Given the description of an element on the screen output the (x, y) to click on. 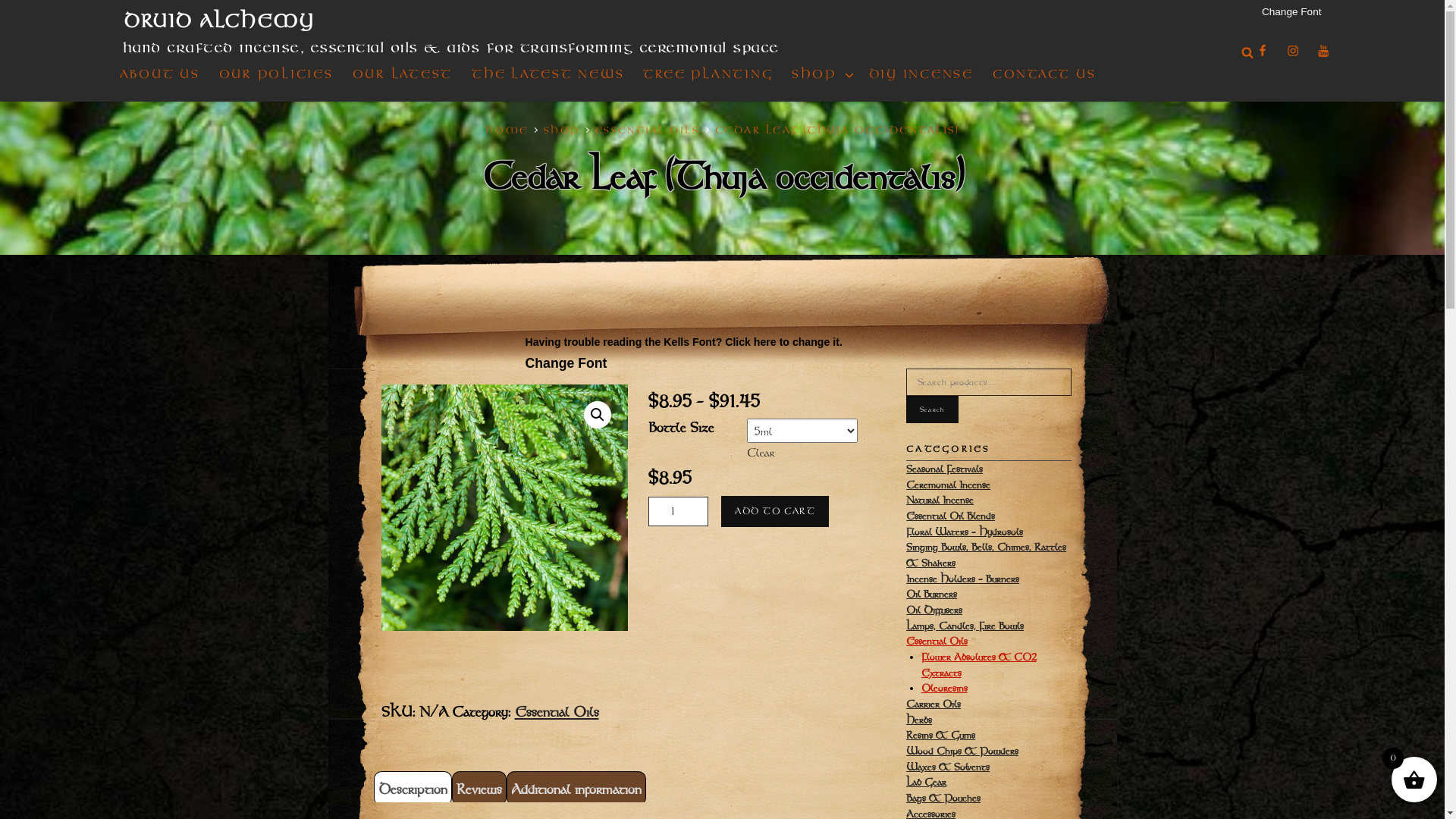
OUR LATEST Element type: text (403, 74)
Waxes & Solvents Element type: text (947, 766)
Facebook Element type: text (1261, 50)
Natural Incense Element type: text (939, 499)
ABOUT US Element type: text (159, 74)
Ceremonial Incense Element type: text (948, 484)
Bags & Pouches Element type: text (943, 797)
SHOP Element type: text (561, 130)
Lamps, Candles, Fire Bowls Element type: text (964, 625)
THE LATEST NEWS Element type: text (547, 74)
Oil Diffusers Element type: text (934, 609)
Additional information Element type: text (576, 788)
Singing Bowls, Bells, Chimes, Rattles & Shakers Element type: text (986, 554)
Search Element type: text (932, 409)
CONTACT US Element type: text (1044, 74)
Essential Oil Blends Element type: text (950, 515)
ESSENTIAL OILS Element type: text (647, 130)
ADD TO CART Element type: text (774, 511)
Flower Absolutes & CO2 Extracts Element type: text (978, 664)
Lab Gear Element type: text (926, 781)
cedar-leaf.jpg Element type: hover (503, 507)
Search Element type: text (1246, 51)
Oleoresins Element type: text (944, 687)
Seasonal Festivals Element type: text (944, 468)
Wood Chips & Powders Element type: text (962, 750)
HOME Element type: text (506, 130)
SHOP Element type: text (820, 74)
TREE PLANTING Element type: text (707, 74)
Clear Element type: text (760, 452)
Description Element type: text (411, 788)
Oil Burners Element type: text (931, 593)
Instagram Element type: text (1291, 50)
OUR POLICIES Element type: text (276, 74)
Carrier Oils Element type: text (933, 703)
Essential Oils Element type: text (936, 640)
Floral Waters - Hydrosols Element type: text (964, 531)
Resins & Gums Element type: text (940, 734)
YouTube Element type: text (1322, 50)
Essential Oils Element type: text (556, 710)
Herbs Element type: text (918, 719)
Incense Holders - Burners Element type: text (962, 578)
DIY INCENSE Element type: text (921, 74)
DRUID ALCHEMY Element type: text (217, 20)
Reviews Element type: text (479, 788)
